Given the description of an element on the screen output the (x, y) to click on. 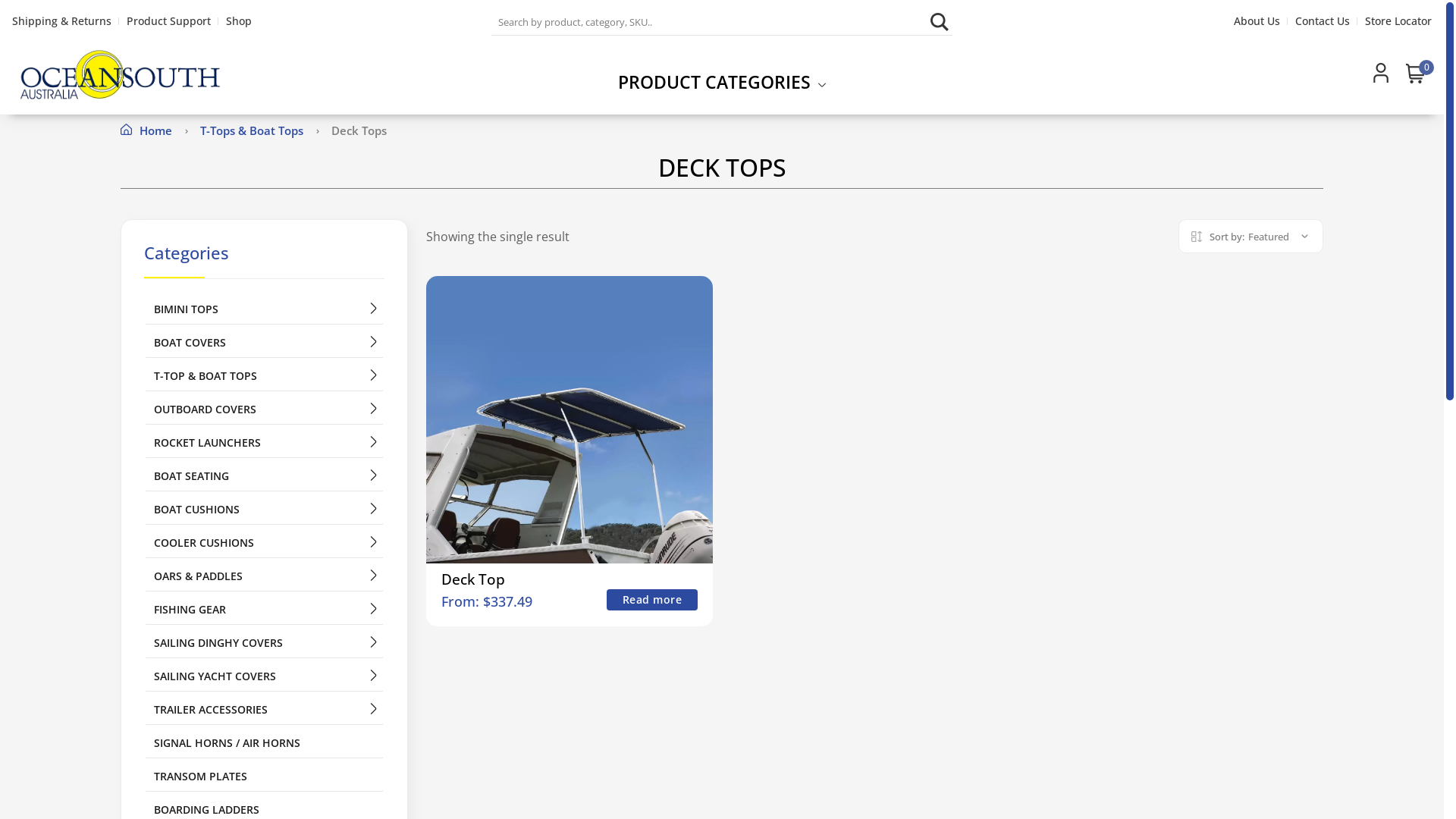
ROCKET LAUNCHERS Element type: text (263, 442)
OUTBOARD COVERS Element type: text (263, 409)
SAILING DINGHY COVERS Element type: text (263, 642)
BOAT COVERS Element type: text (263, 342)
Contact Us Element type: text (1322, 21)
Shop Element type: text (238, 21)
FISHING GEAR Element type: text (263, 609)
Read more Element type: text (652, 599)
TRAILER ACCESSORIES Element type: text (263, 709)
T-TOP & BOAT TOPS Element type: text (263, 375)
Home Element type: text (147, 130)
0 Element type: text (1415, 74)
SAILING YACHT COVERS Element type: text (263, 676)
Store Locator Element type: text (1398, 21)
About Us Element type: text (1256, 21)
BOAT SEATING Element type: text (263, 475)
SIGNAL HORNS / AIR HORNS Element type: text (263, 742)
TRANSOM PLATES Element type: text (263, 776)
BIMINI TOPS Element type: text (263, 308)
Deck Top Element type: text (473, 579)
Product Support Element type: text (168, 21)
Shipping & Returns Element type: text (61, 21)
T-Tops & Boat Tops Element type: text (253, 130)
PRODUCT CATEGORIES Element type: text (721, 81)
OARS & PADDLES Element type: text (263, 575)
COOLER CUSHIONS Element type: text (263, 542)
BOAT CUSHIONS Element type: text (263, 509)
